Given the description of an element on the screen output the (x, y) to click on. 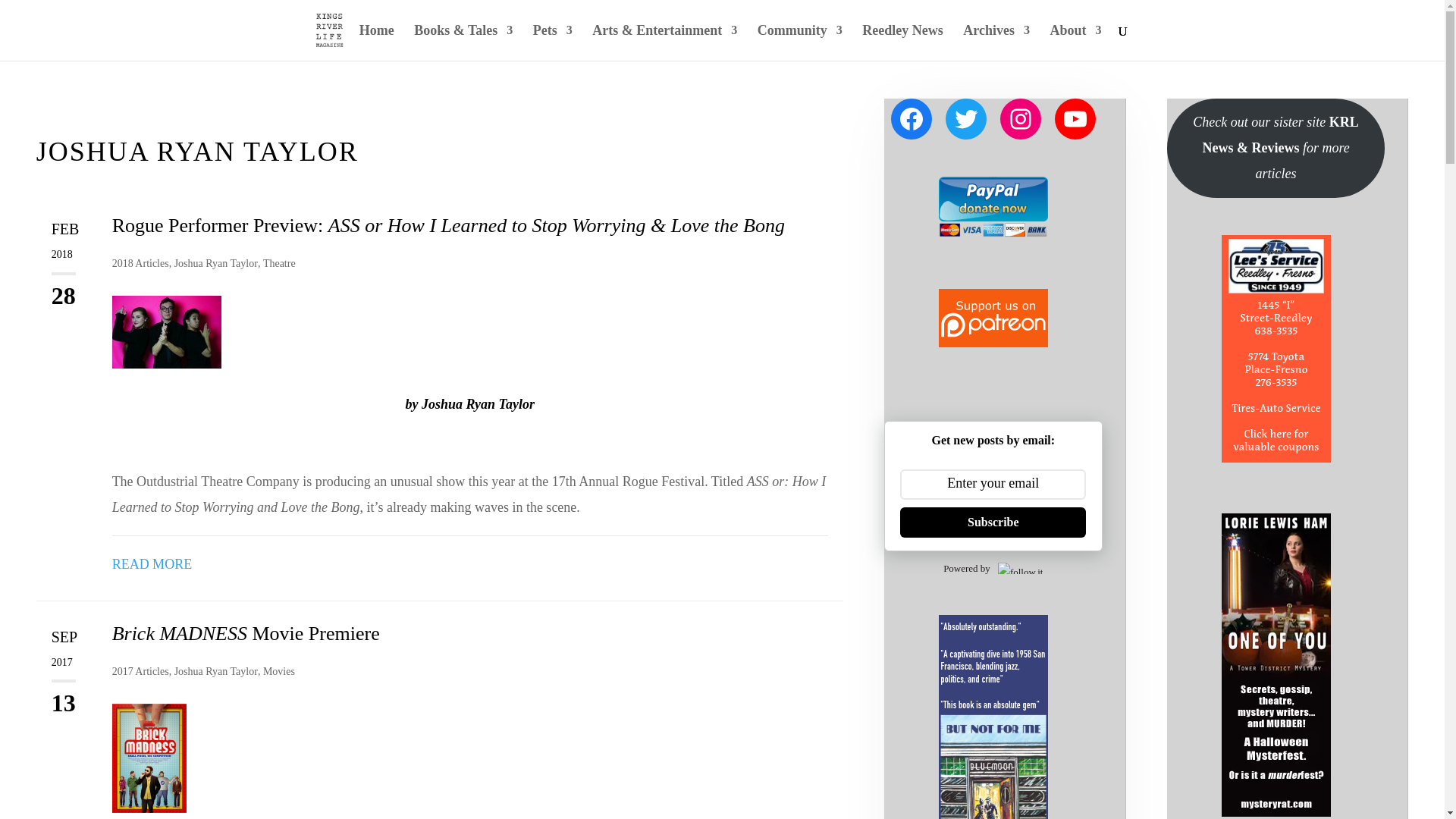
Home (376, 42)
Archives (995, 42)
Community (800, 42)
Reedley News (901, 42)
Pets (552, 42)
